Given the description of an element on the screen output the (x, y) to click on. 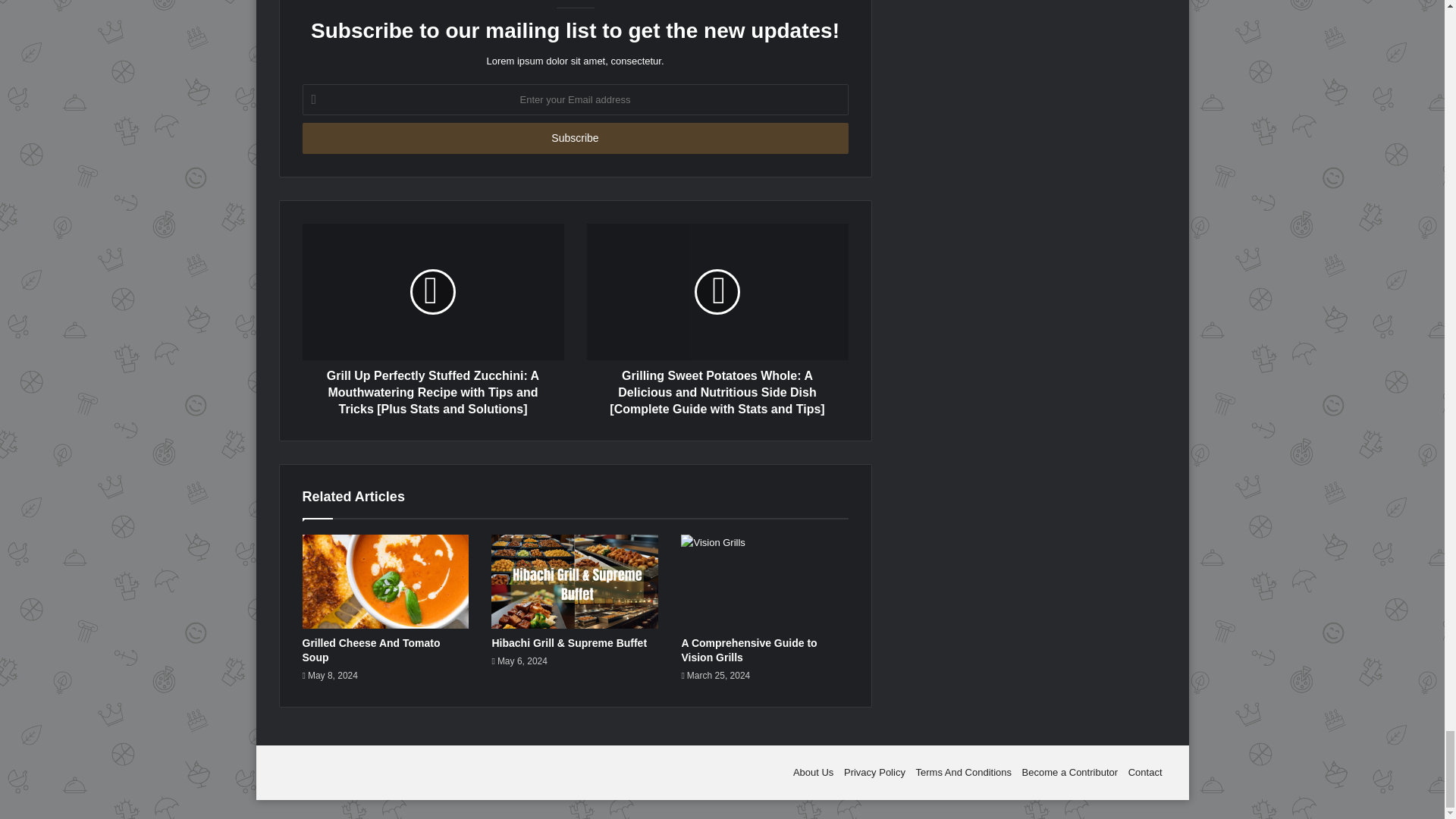
Subscribe (574, 137)
A Comprehensive Guide to Vision Grills 4 (764, 581)
Grilled Cheese And Tomato Soup 2 (384, 581)
